Given the description of an element on the screen output the (x, y) to click on. 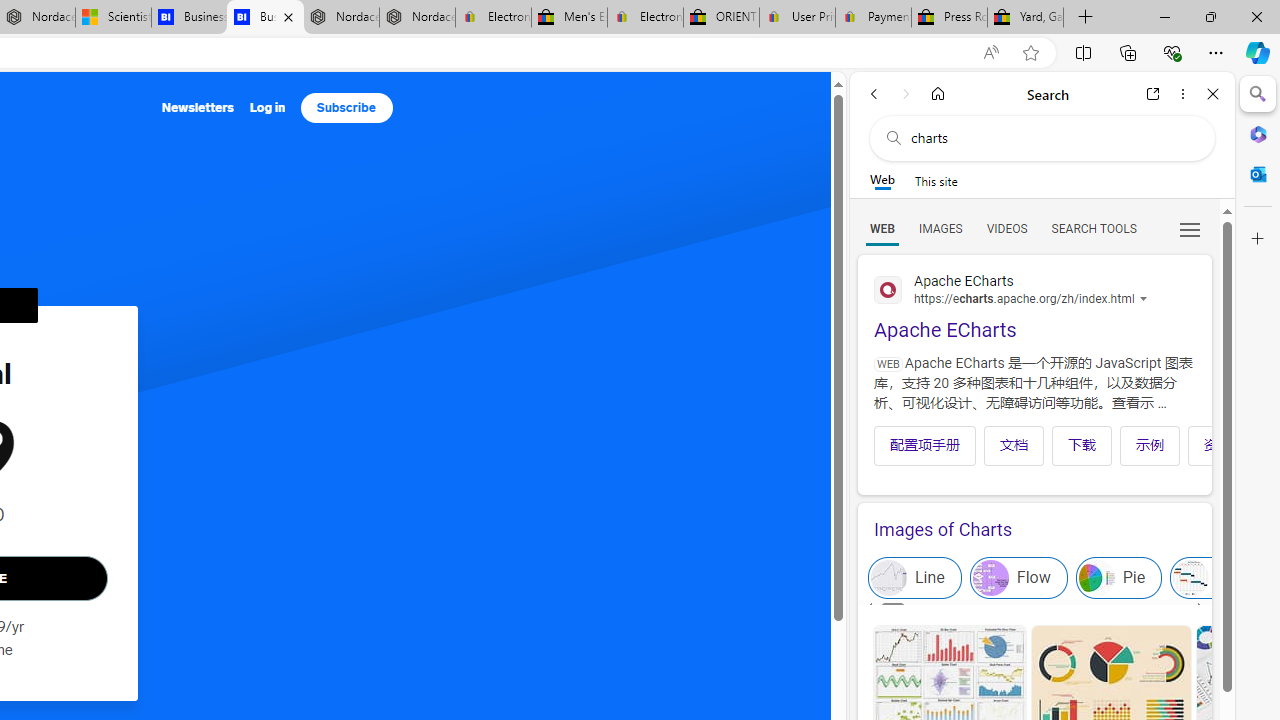
SEARCH TOOLS (1093, 228)
Gantt (1221, 578)
Search the web (1051, 137)
Apache ECharts (1034, 304)
